Given the description of an element on the screen output the (x, y) to click on. 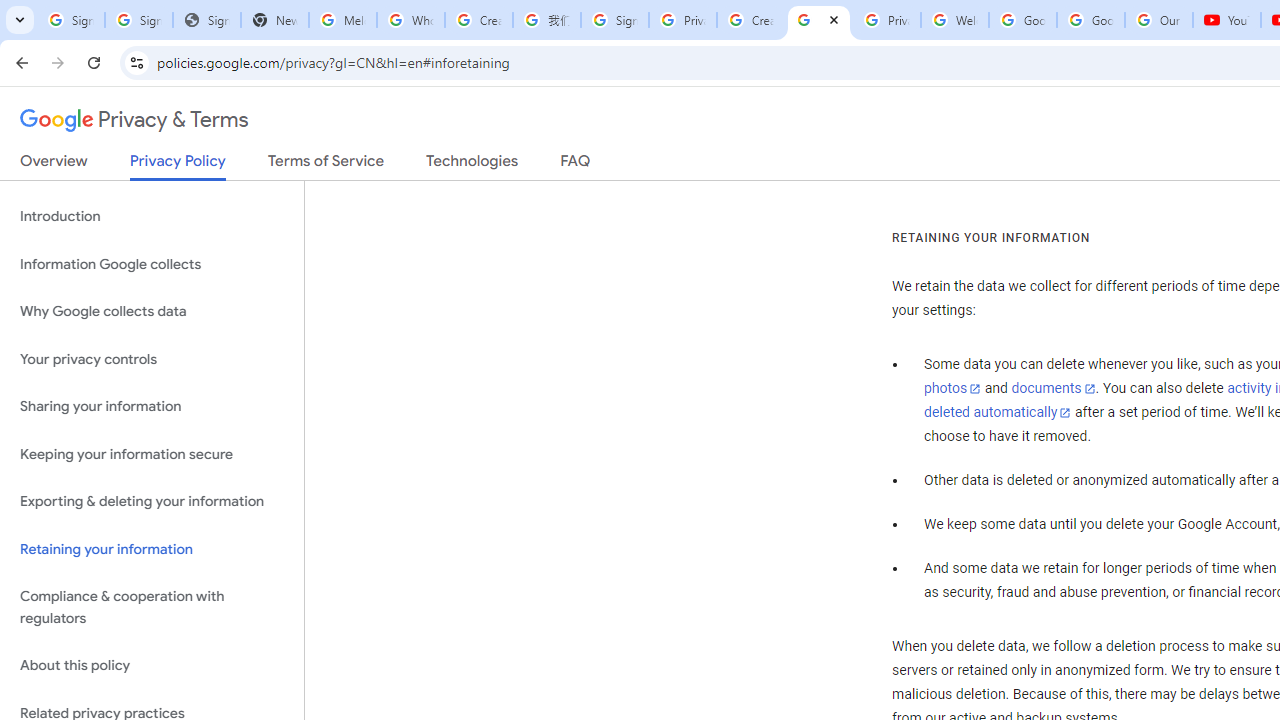
Welcome to My Activity (954, 20)
Information Google collects (152, 263)
Exporting & deleting your information (152, 502)
Sign in - Google Accounts (614, 20)
Your privacy controls (152, 358)
Create your Google Account (479, 20)
Keeping your information secure (152, 453)
